Given the description of an element on the screen output the (x, y) to click on. 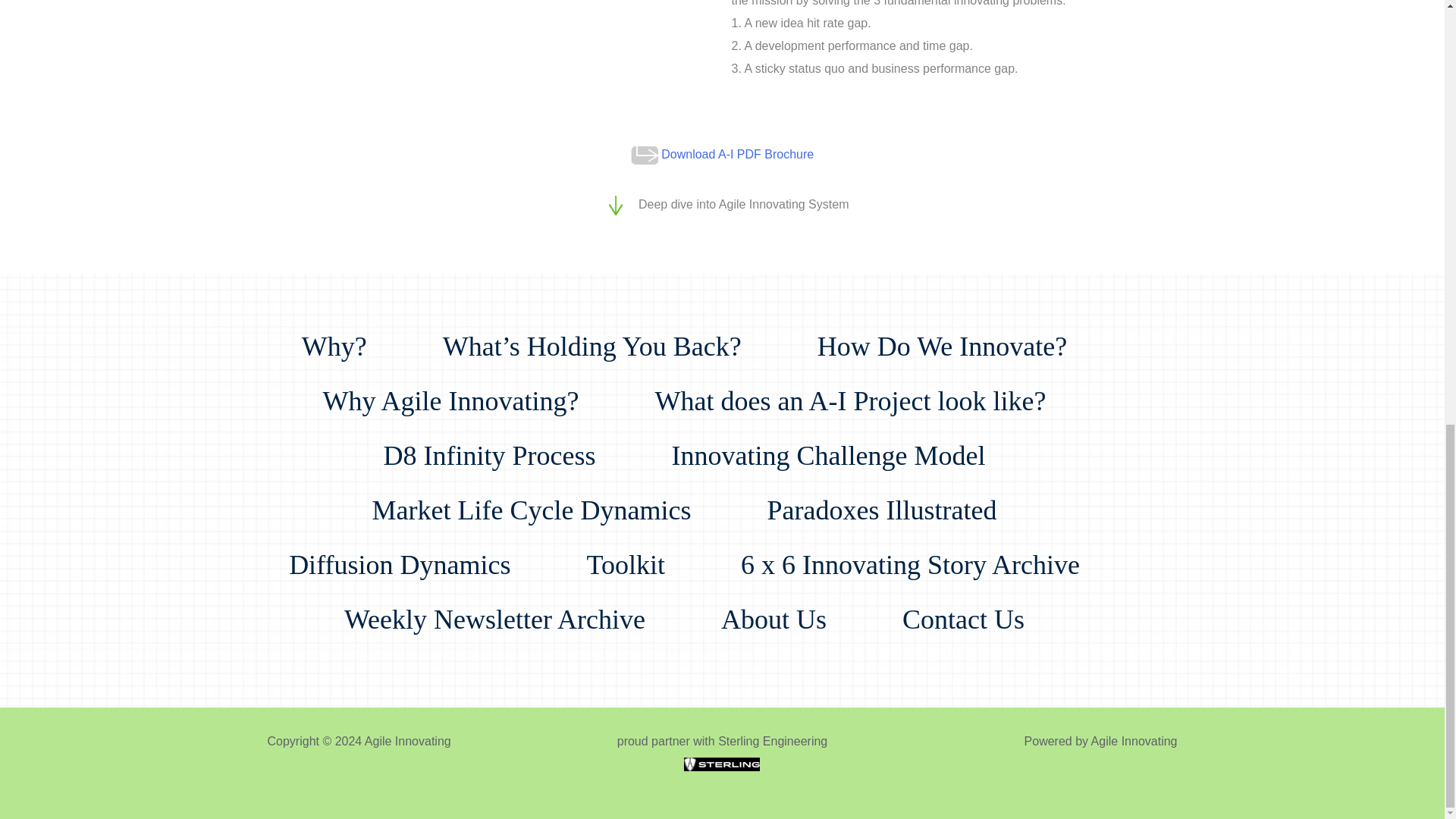
Paradoxes Illustrated (896, 494)
Innovating Challenge Model (843, 440)
What does an A-I Project look like? (866, 385)
6 x 6 Innovating Story Archive (925, 549)
How Do We Innovate? (956, 330)
D8 Infinity Process (505, 440)
Download A-I PDF Brochure (737, 154)
Why? (349, 330)
Market Life Cycle Dynamics (547, 494)
Weekly Newsletter Archive (509, 604)
Contact Us (978, 604)
About Us (788, 604)
Diffusion Dynamics (414, 549)
Why Agile Innovating? (466, 385)
Toolkit (640, 549)
